Given the description of an element on the screen output the (x, y) to click on. 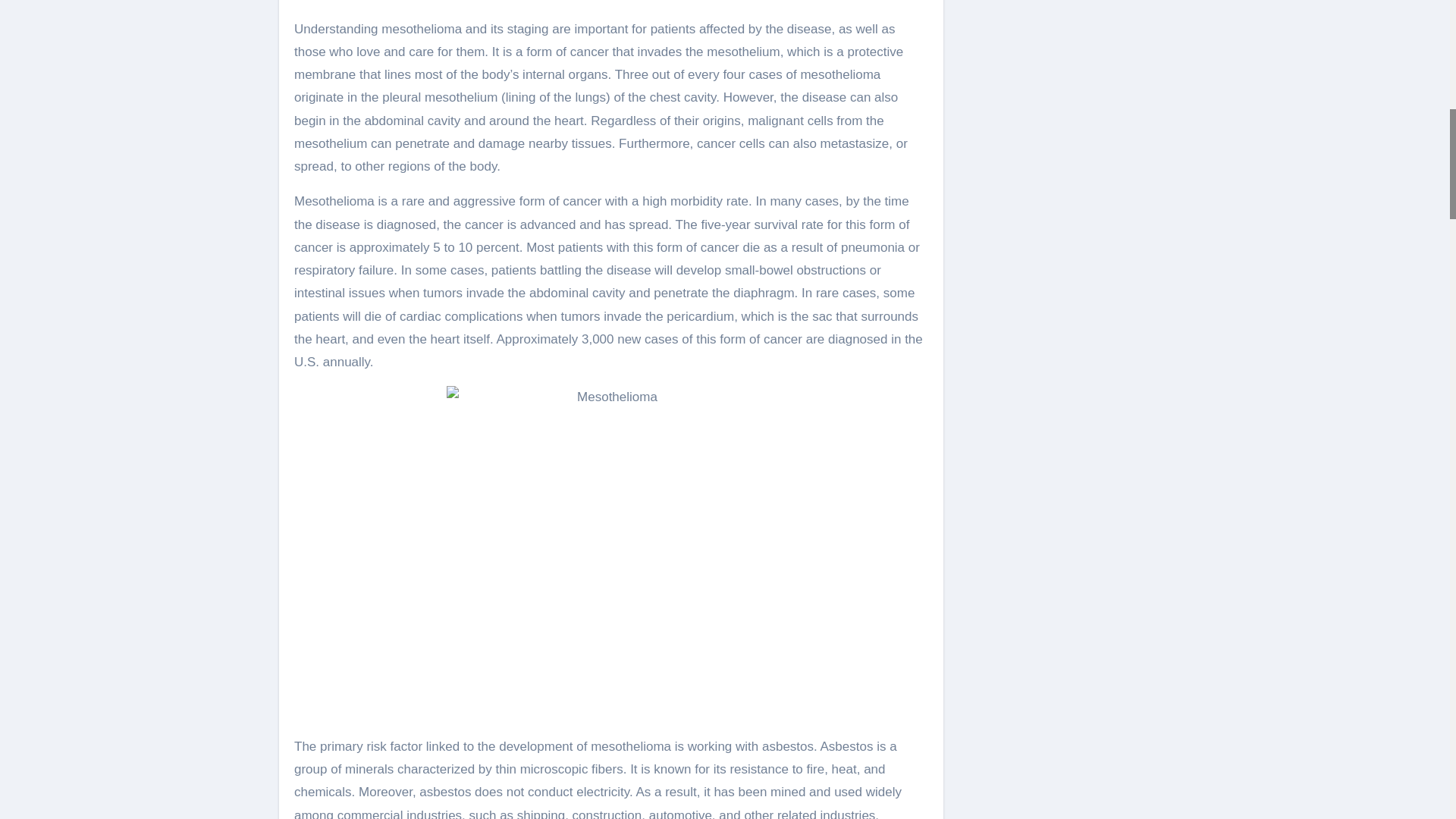
Understanding Mesothelioma and Its Staging (610, 550)
